Given the description of an element on the screen output the (x, y) to click on. 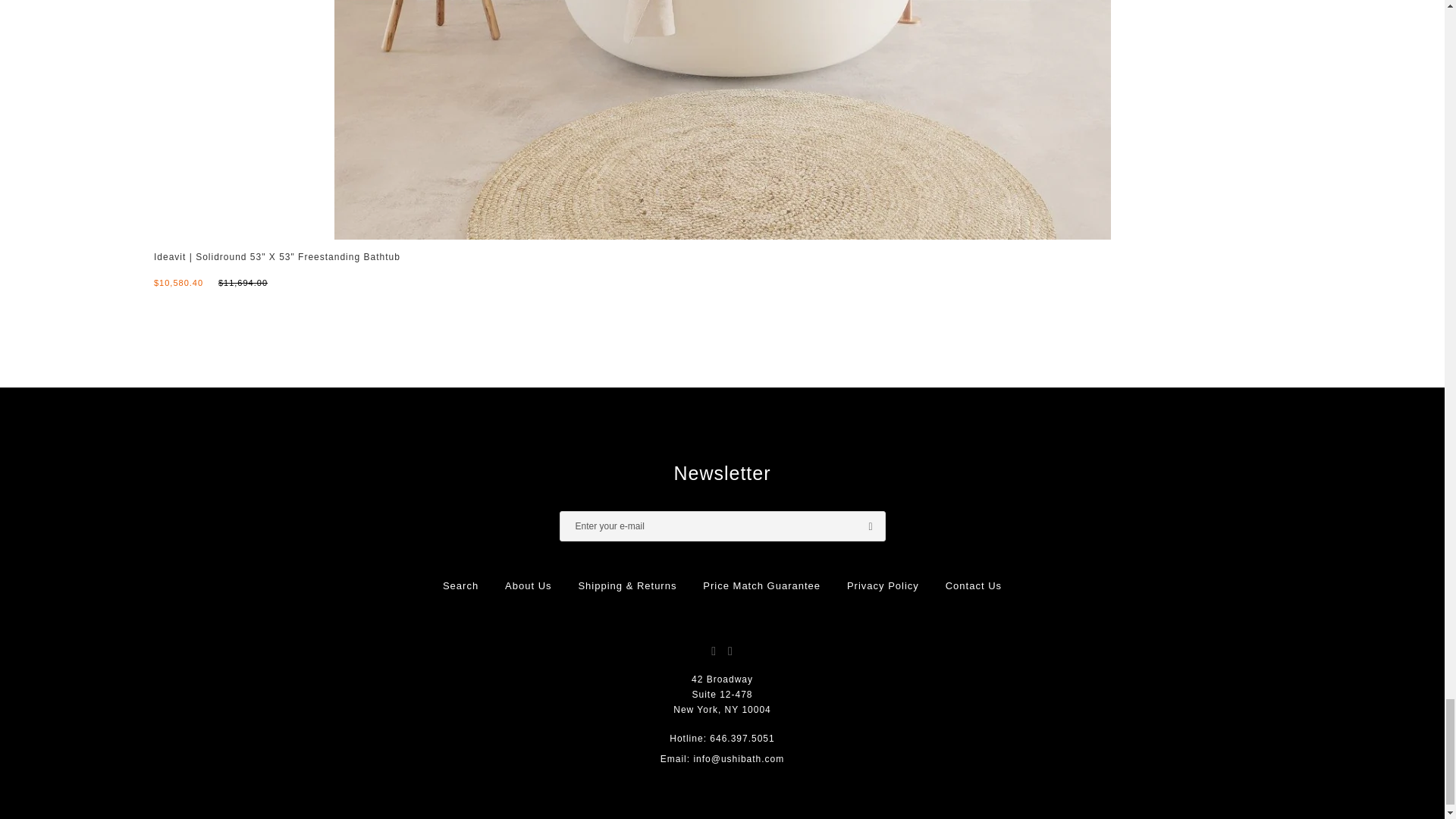
Search (460, 585)
About Us (528, 585)
Contact Us (972, 585)
Price Match Guarantee (762, 585)
Privacy Policy (882, 585)
